Given the description of an element on the screen output the (x, y) to click on. 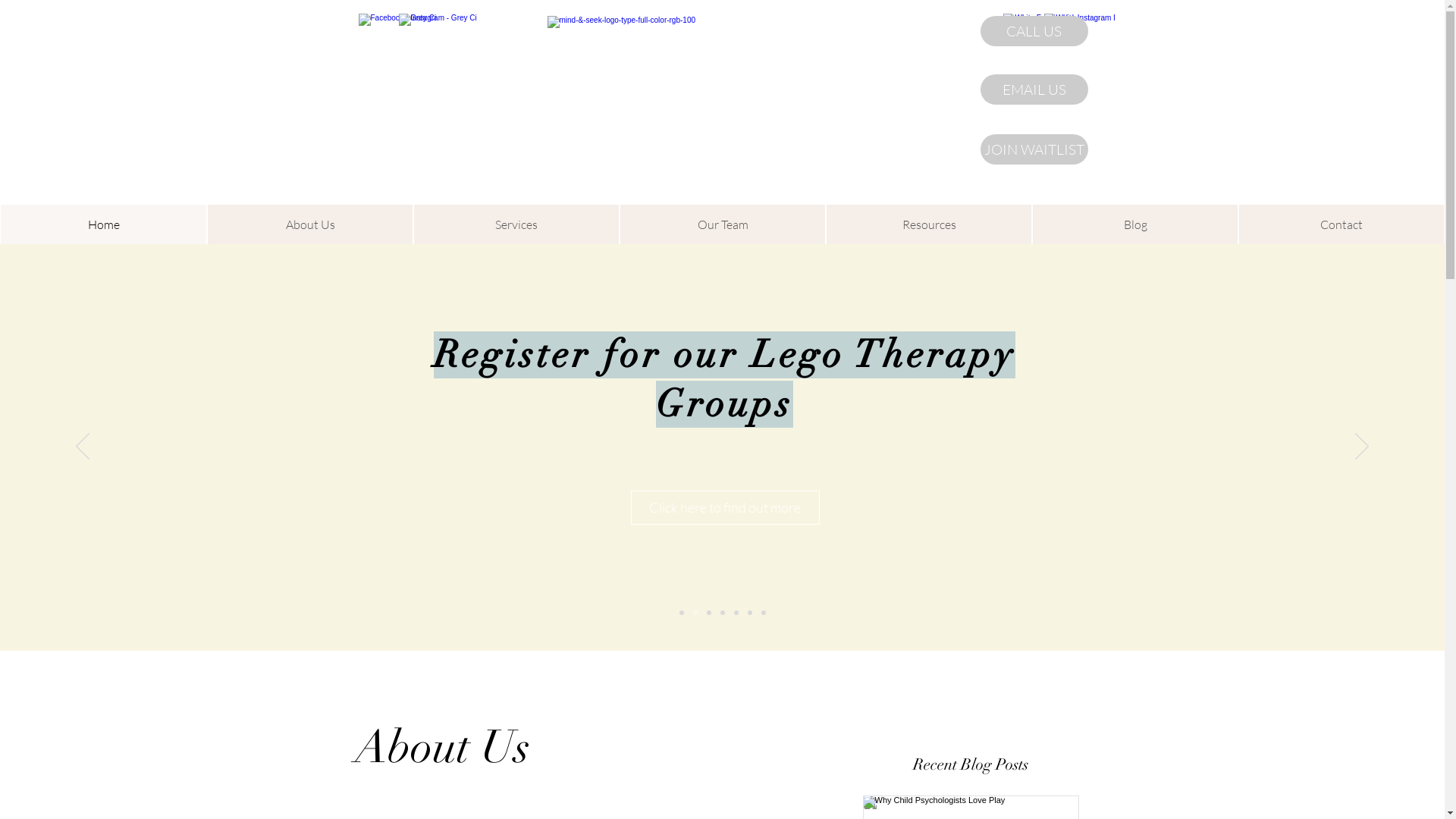
JOIN WAITLIST Element type: text (1033, 149)
About Us Element type: text (442, 746)
About Us Element type: text (309, 224)
mind-&-seek-logo-type-full-color-rgb-100 Element type: hover (710, 109)
Home Element type: text (103, 224)
CALL US Element type: text (1033, 30)
Blog Element type: text (1134, 224)
EMAIL US Element type: text (1033, 89)
Our Team Element type: text (722, 224)
Contact Element type: text (1341, 224)
Resources Element type: text (928, 224)
Click here to see our locations Element type: text (732, 377)
